Given the description of an element on the screen output the (x, y) to click on. 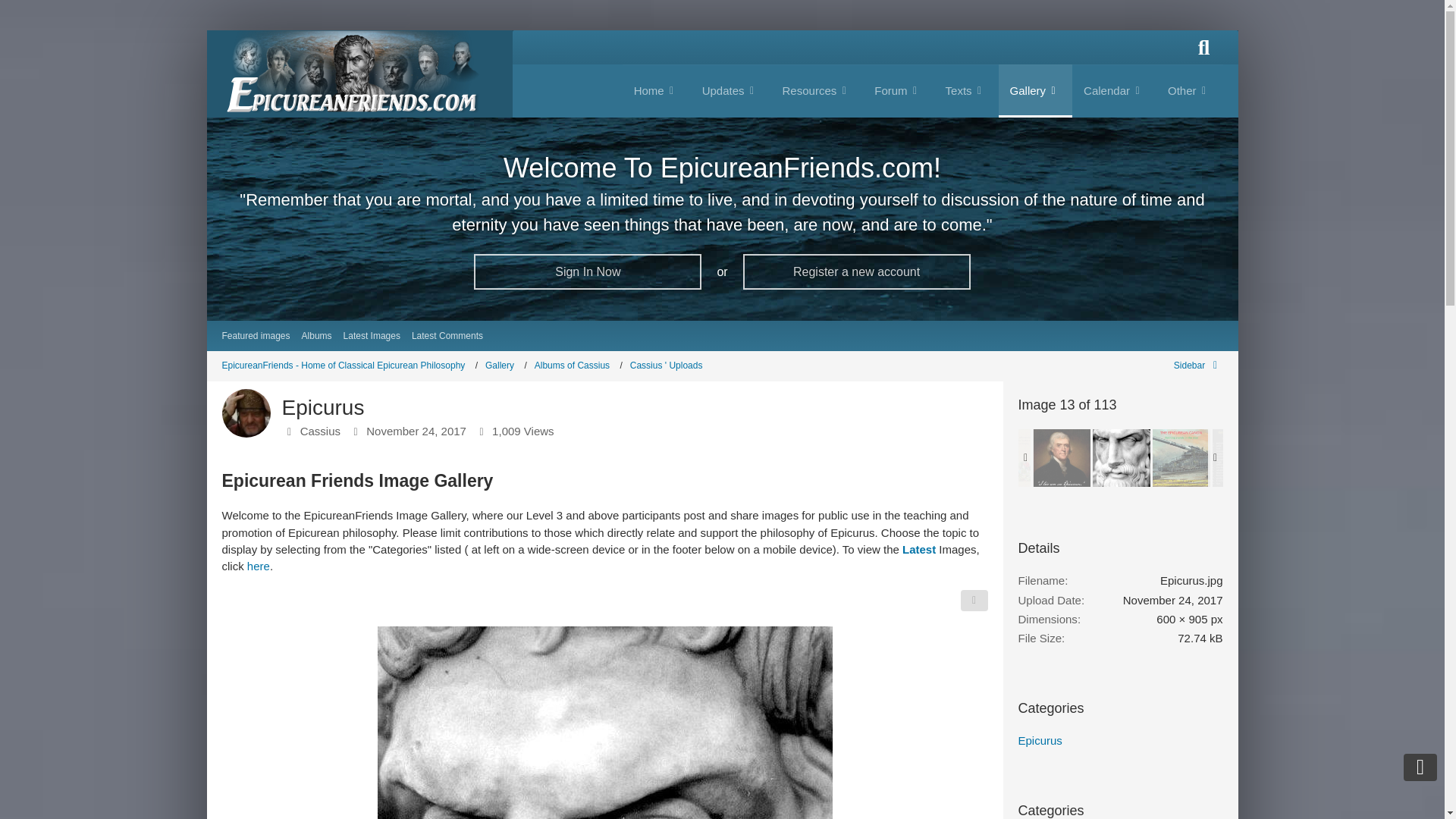
Gallery (505, 366)
Cassius ' Uploads (666, 366)
EpicureanFriends - Home of Classical Epicurean Philosophy (349, 366)
Albums of Cassius (578, 366)
